Given the description of an element on the screen output the (x, y) to click on. 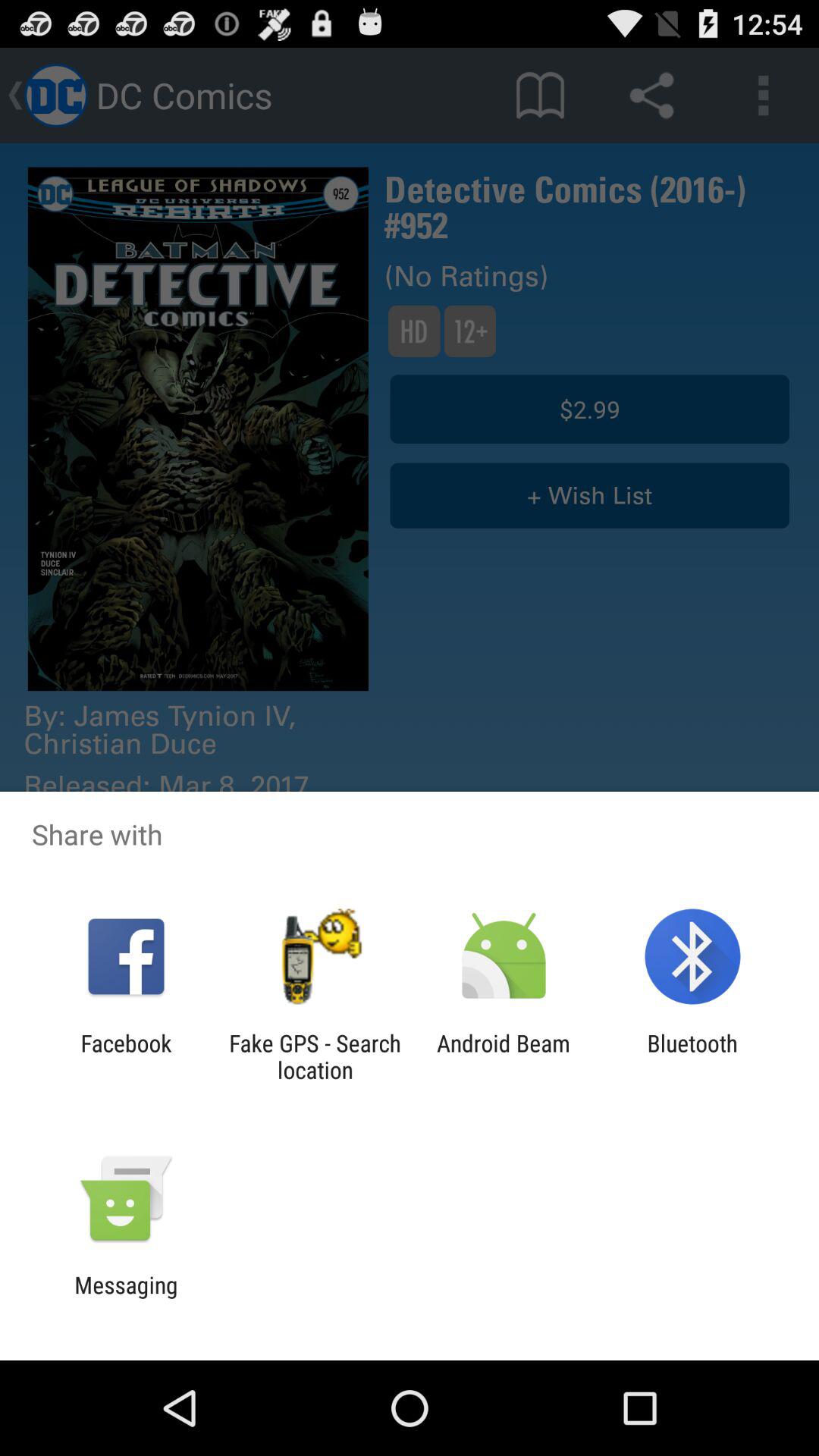
open icon next to fake gps search item (125, 1056)
